Given the description of an element on the screen output the (x, y) to click on. 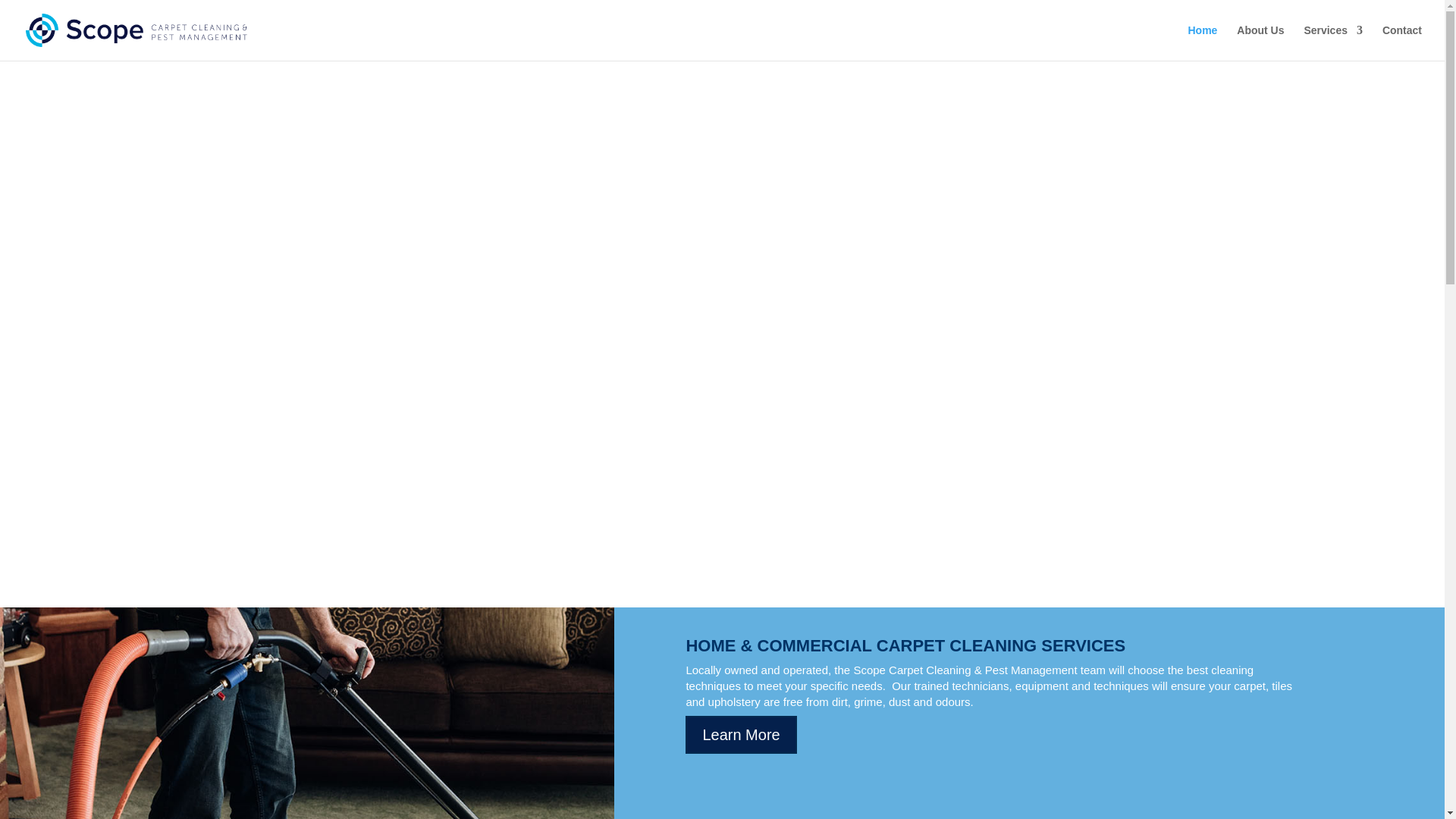
About Us (1260, 42)
Learn More (740, 734)
Contact (1401, 42)
Services (1332, 42)
